Given the description of an element on the screen output the (x, y) to click on. 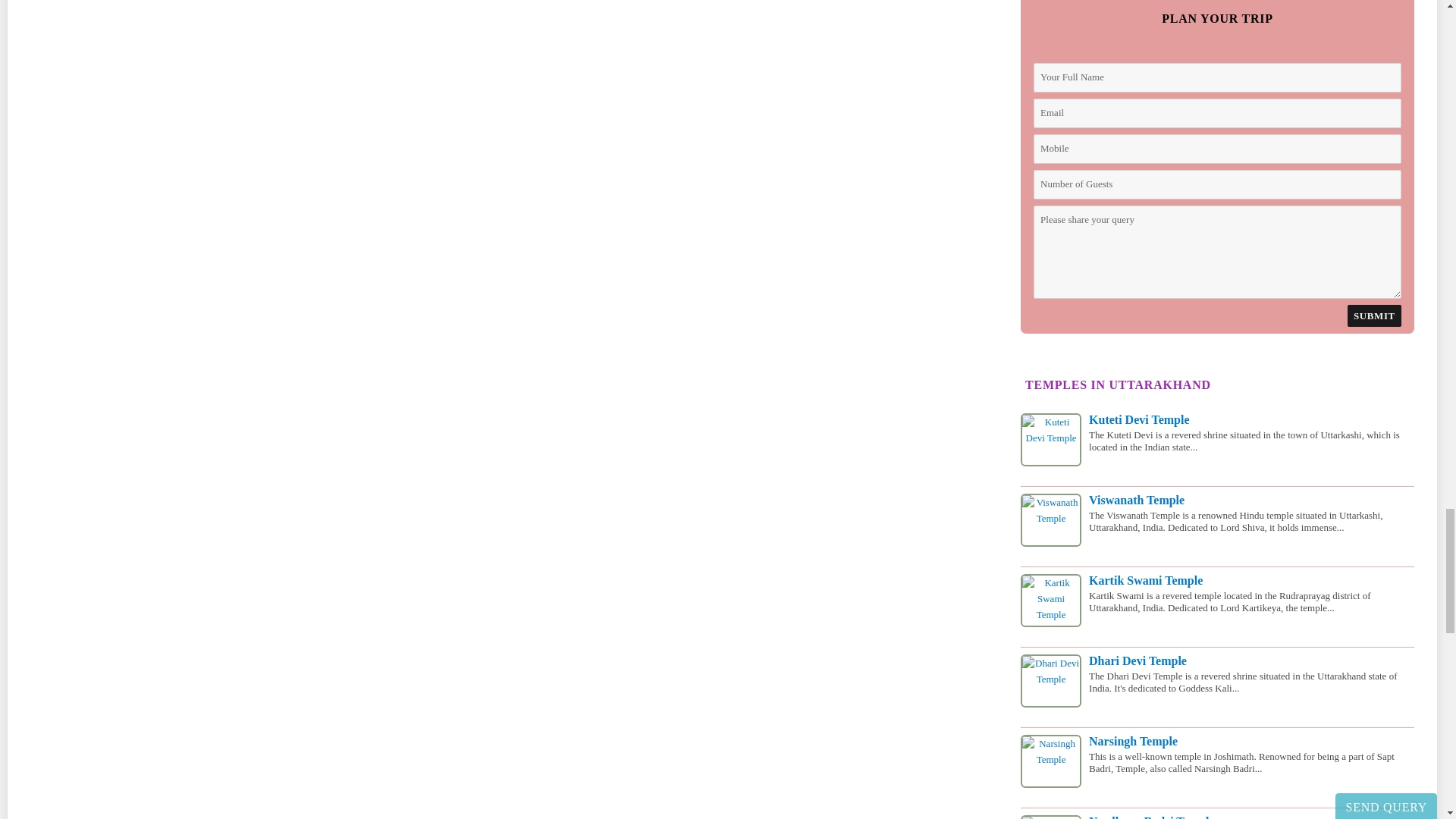
submit (1374, 315)
